Given the description of an element on the screen output the (x, y) to click on. 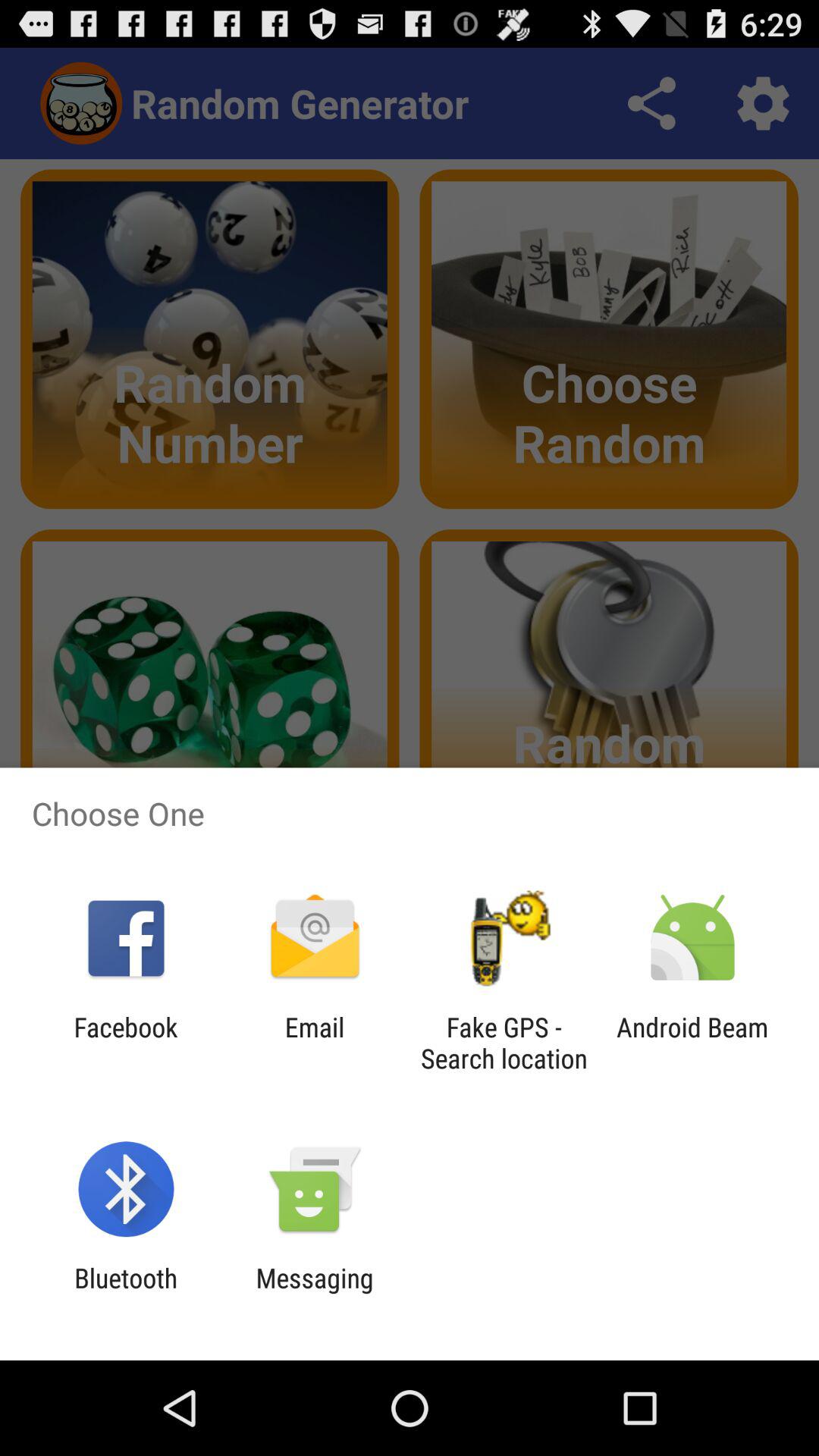
tap the fake gps search item (503, 1042)
